Given the description of an element on the screen output the (x, y) to click on. 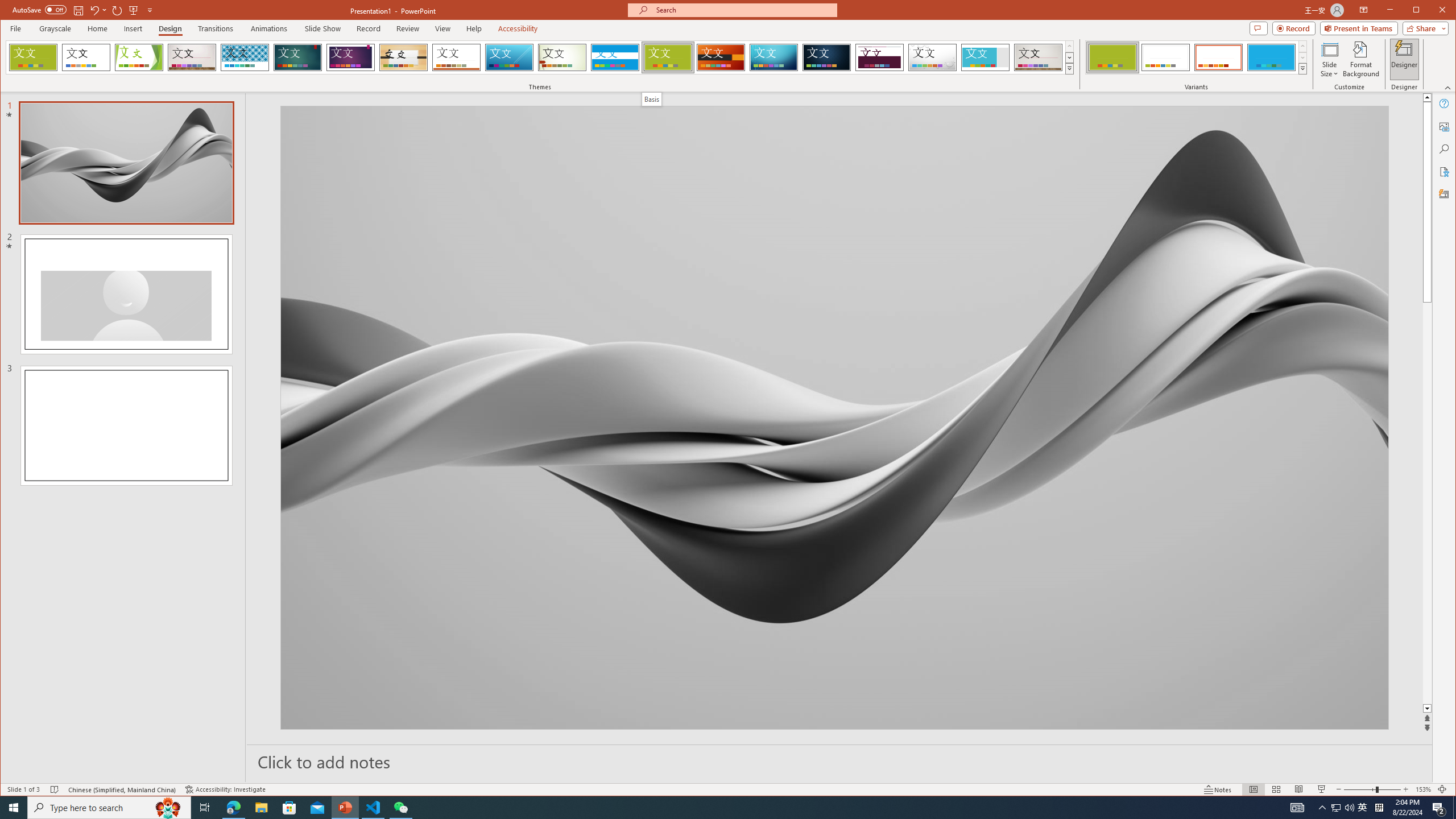
Droplet (932, 57)
Basis (668, 57)
Dividend (879, 57)
